Given the description of an element on the screen output the (x, y) to click on. 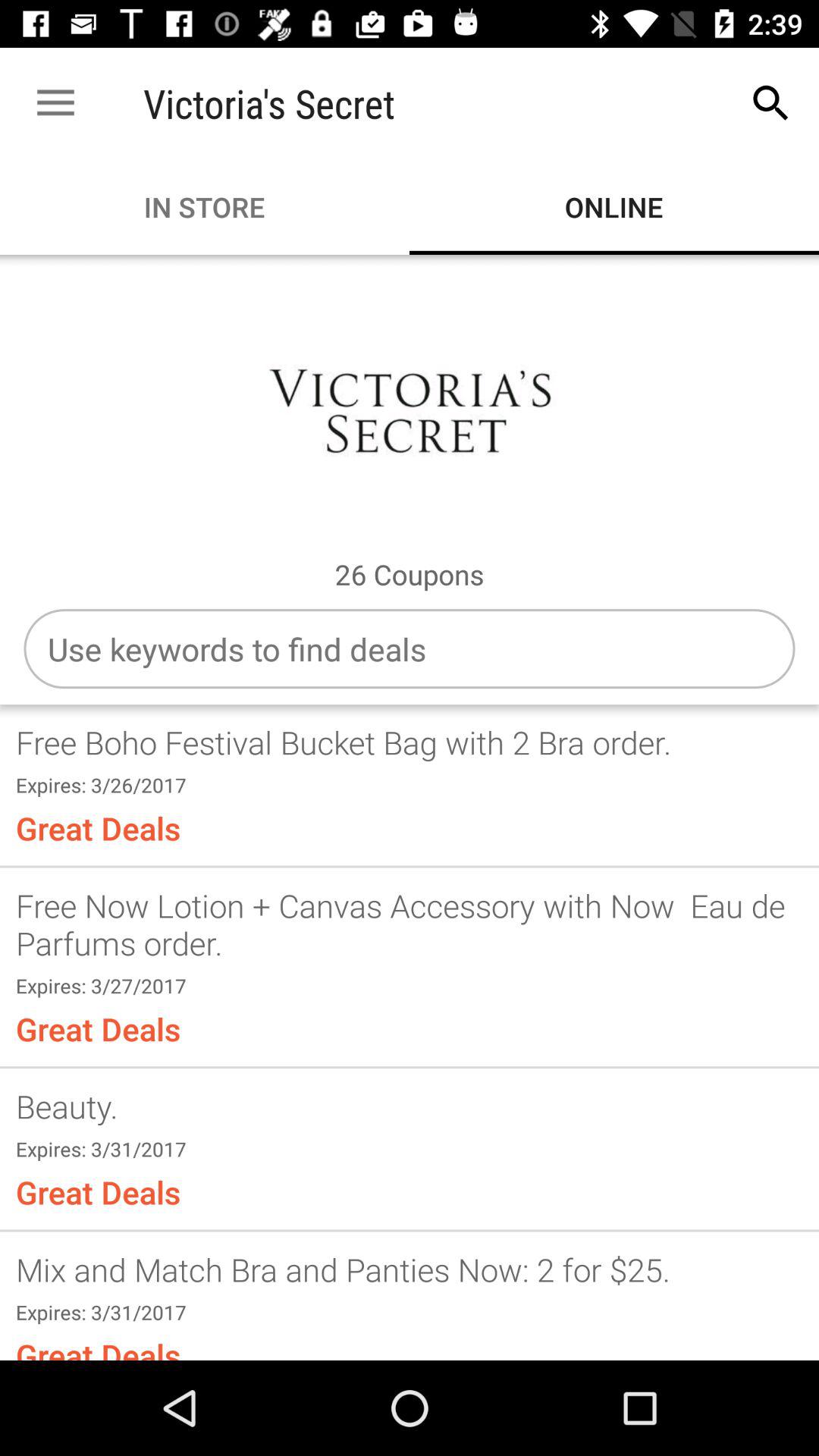
choose the item to the right of victoria's secret  icon (771, 103)
